Given the description of an element on the screen output the (x, y) to click on. 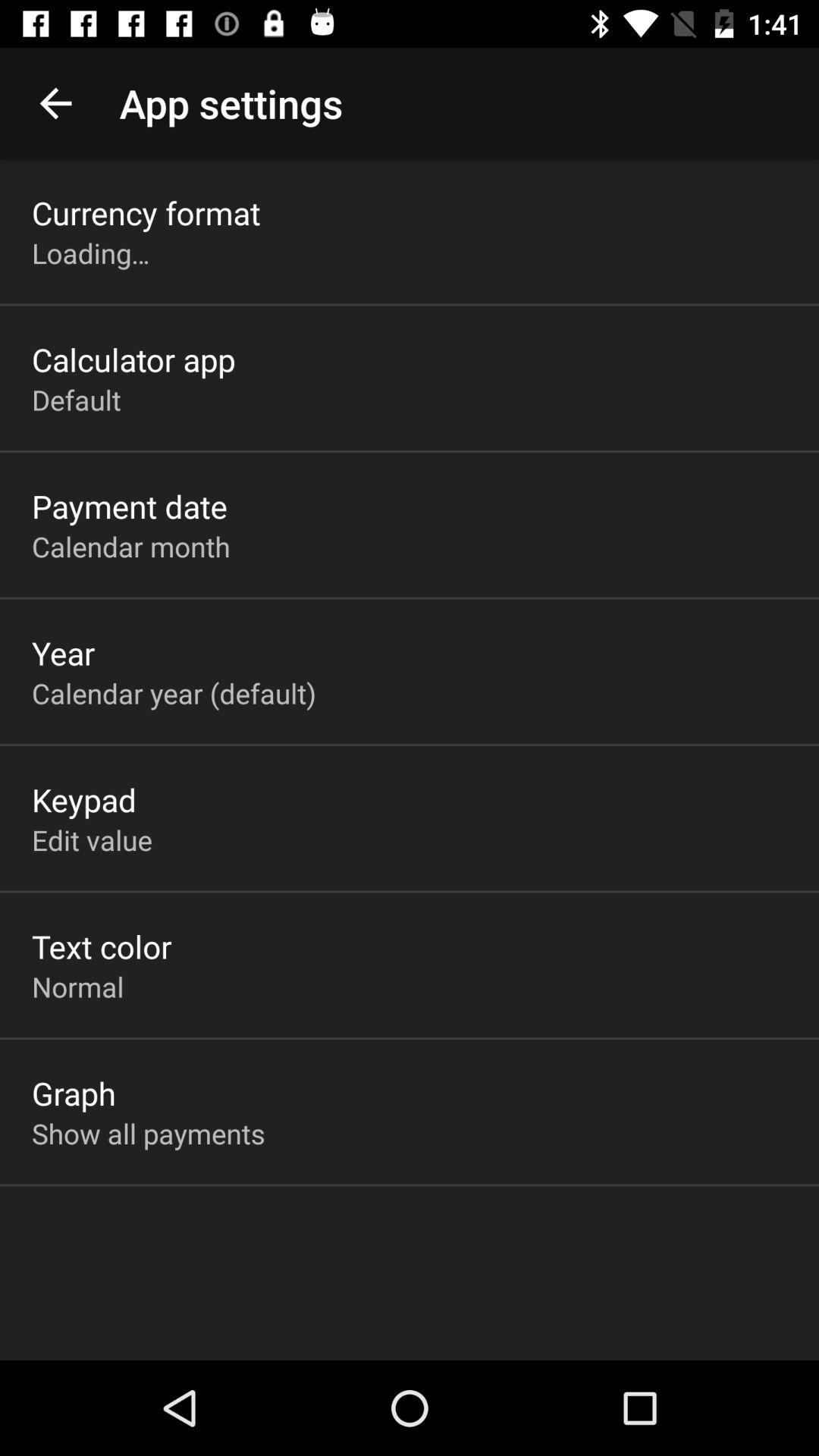
tap keypad app (83, 799)
